Given the description of an element on the screen output the (x, y) to click on. 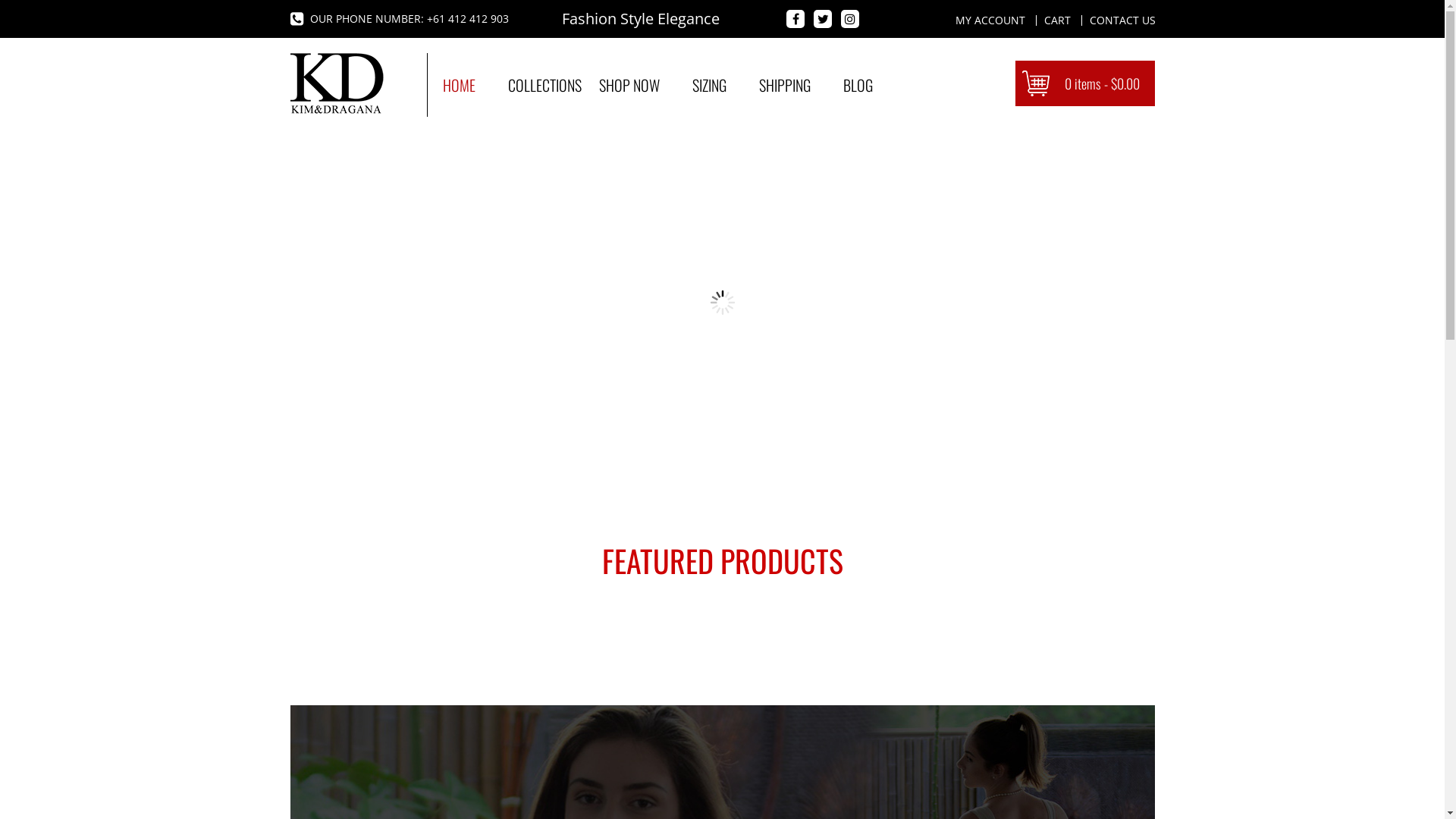
CART Element type: text (1056, 20)
CONTACT US Element type: text (1121, 20)
SHOP NOW Element type: text (628, 84)
SHIPPING Element type: text (784, 84)
MY ACCOUNT Element type: text (990, 20)
+61 412 412 903 Element type: text (467, 18)
SKIP TO CONTENT Element type: text (441, 76)
0 items - $0.00 Element type: text (1084, 83)
COLLECTIONS Element type: text (536, 84)
SIZING Element type: text (708, 84)
HOME Element type: text (458, 84)
BLOG Element type: text (858, 84)
